Given the description of an element on the screen output the (x, y) to click on. 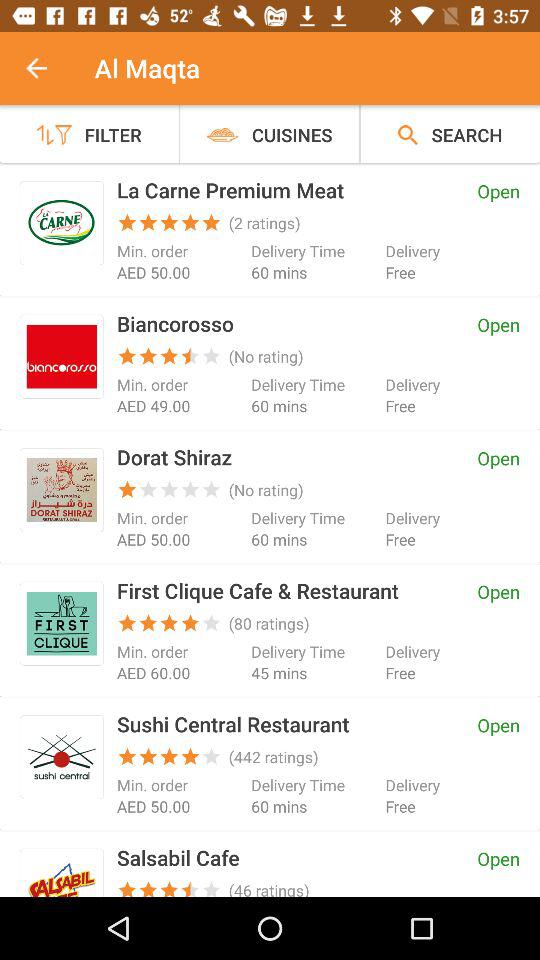
click the app icon (61, 756)
